Given the description of an element on the screen output the (x, y) to click on. 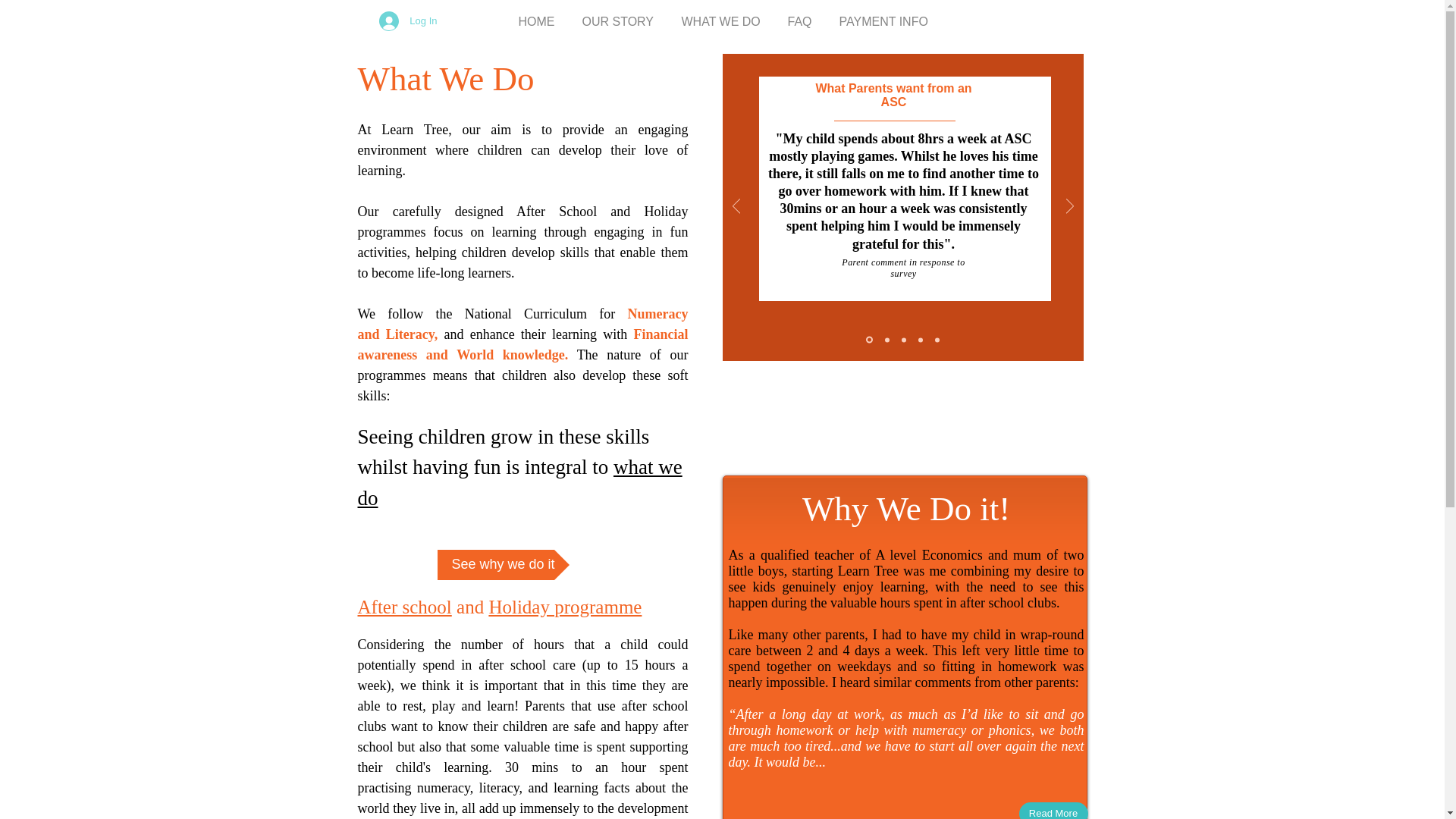
HOME (537, 14)
Read More (1053, 810)
Holiday programme (564, 607)
After school (404, 607)
FAQ (799, 14)
what we do (520, 482)
WHAT WE DO (719, 14)
OUR STORY (618, 14)
See why we do it (502, 564)
Log In (407, 21)
